Given the description of an element on the screen output the (x, y) to click on. 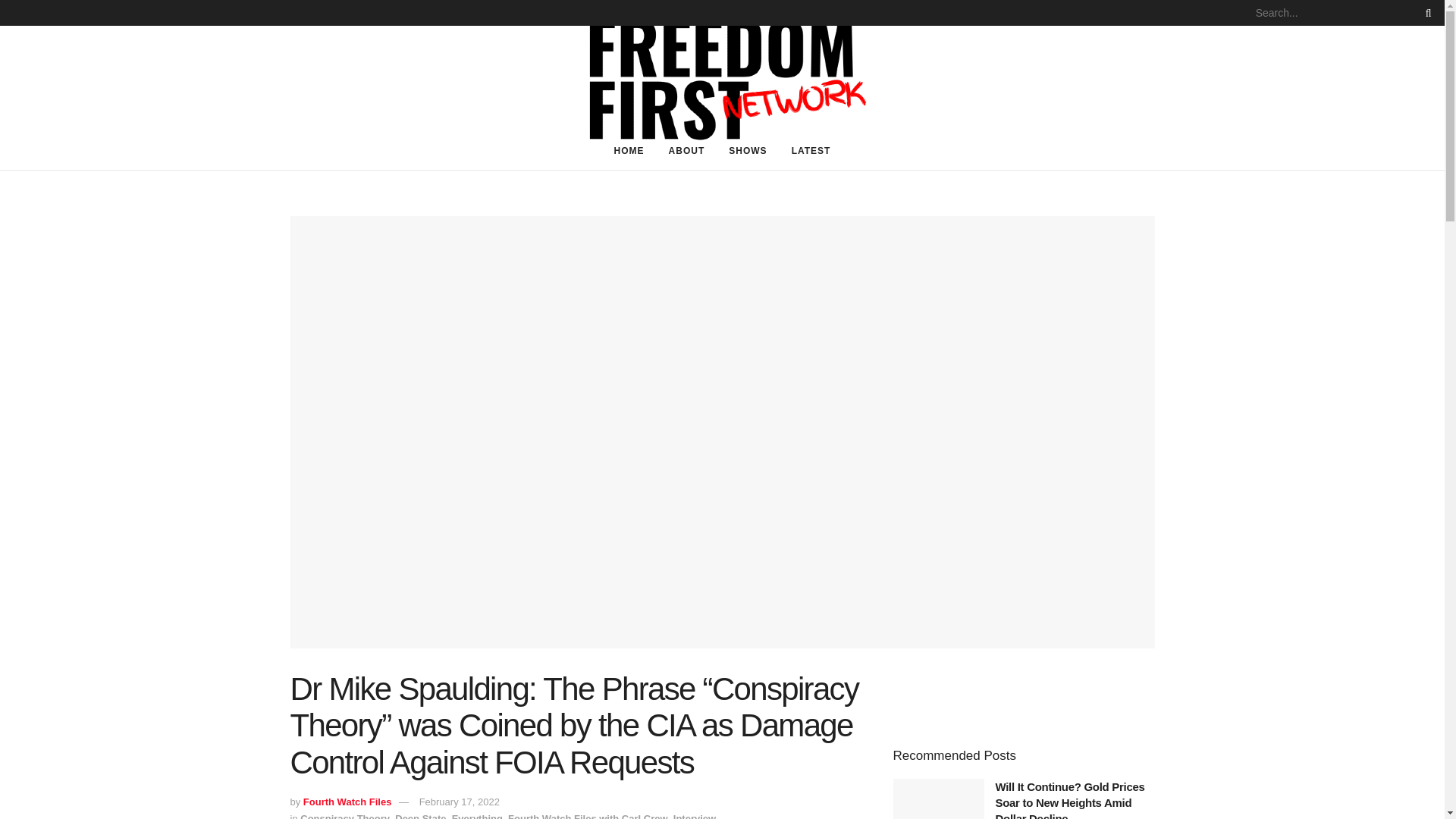
ABOUT (686, 150)
Everything (476, 816)
Conspiracy Theory (344, 816)
February 17, 2022 (459, 801)
Fourth Watch Files with Carl Crew (587, 816)
SHOWS (747, 150)
Interview (694, 816)
HOME (629, 150)
Deep State (419, 816)
LATEST (810, 150)
